Given the description of an element on the screen output the (x, y) to click on. 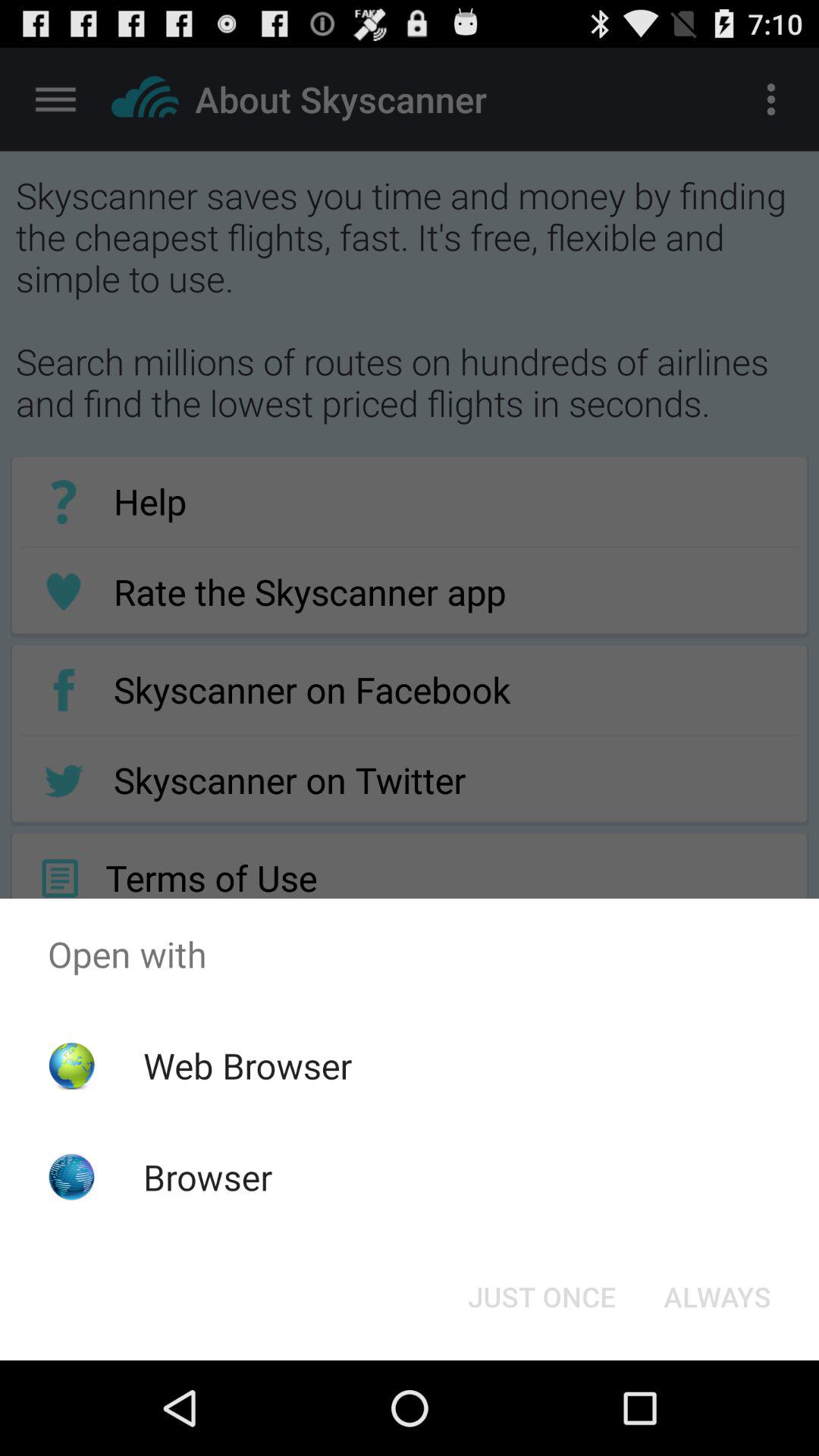
scroll until just once (541, 1296)
